Given the description of an element on the screen output the (x, y) to click on. 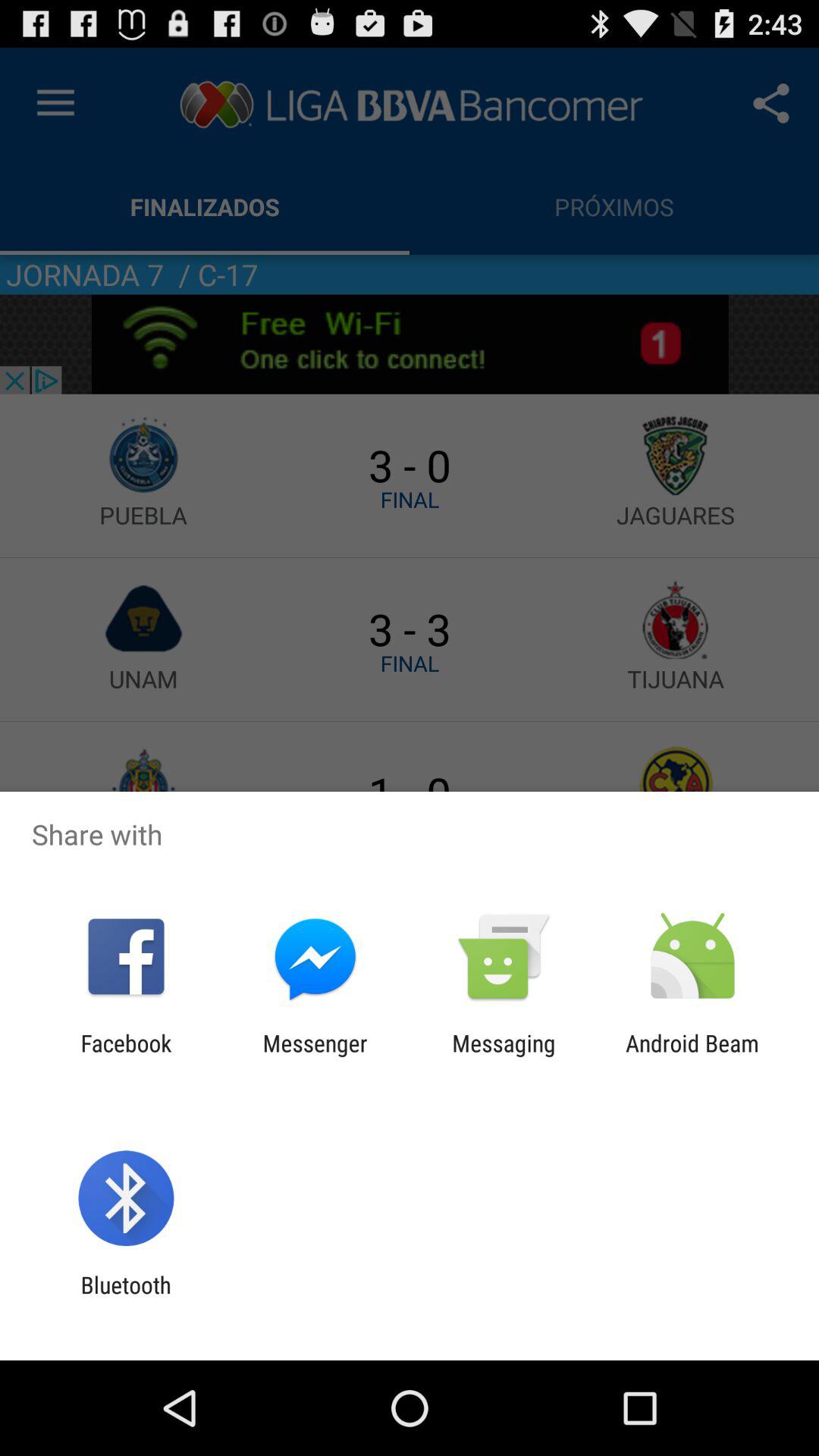
select the icon next to the messenger app (503, 1056)
